Given the description of an element on the screen output the (x, y) to click on. 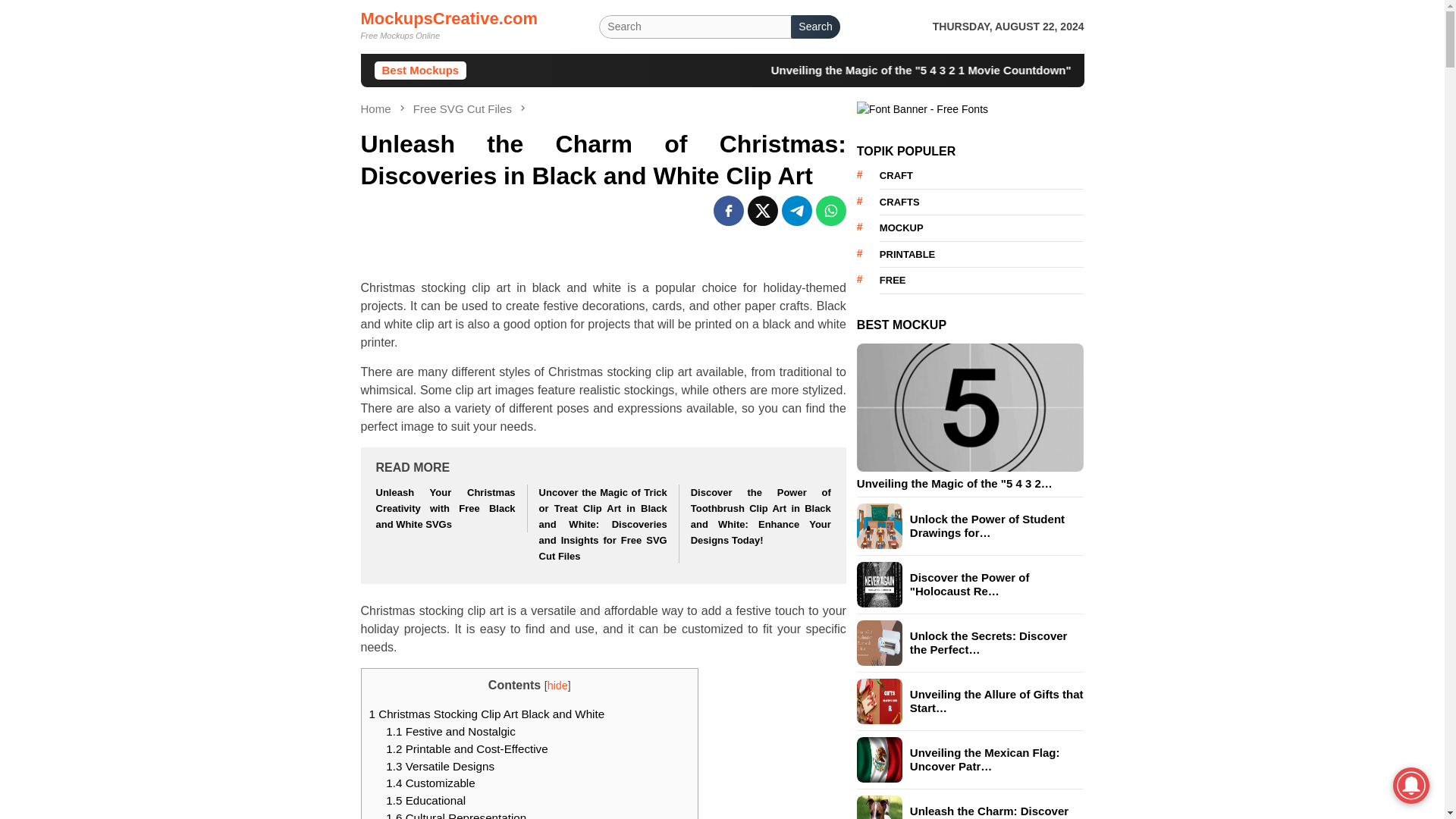
1.1 Festive and Nostalgic (450, 730)
1.4 Customizable (429, 782)
hide (557, 685)
1.6 Cultural Representation (455, 815)
1.5 Educational (425, 799)
Search (815, 26)
Free SVG Cut Files (464, 108)
